Given the description of an element on the screen output the (x, y) to click on. 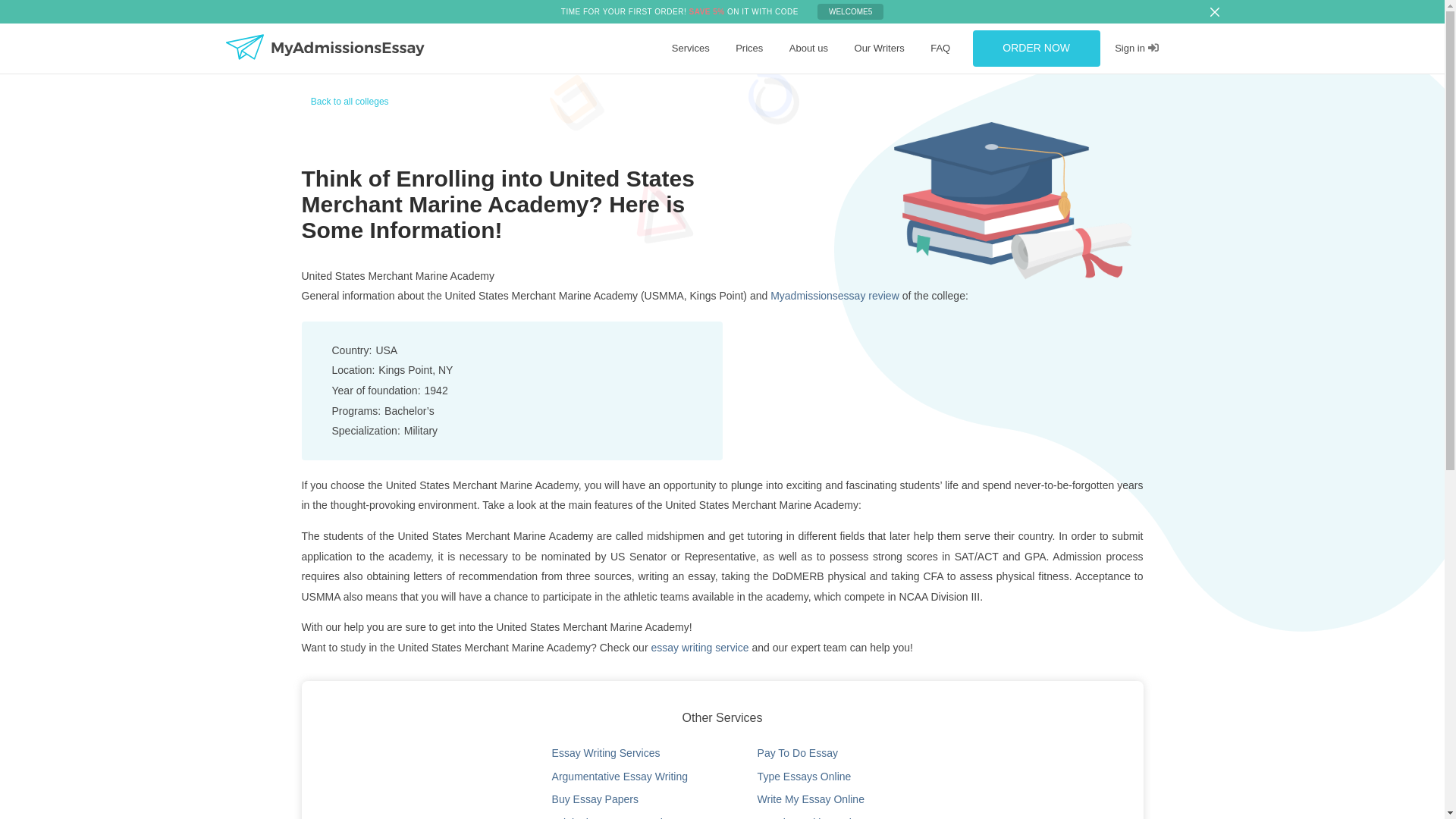
Biography Writing Services (897, 84)
Sign in (1136, 48)
Cover Letter Writing Service (719, 84)
Article Review (872, 84)
Prices (748, 48)
WELCOME5 (849, 11)
Exam Help (865, 84)
FAQ (940, 48)
Essay Writing Service (706, 84)
Myadmissionsessay review (834, 295)
Paper Help (684, 84)
Buy Business Plan (880, 84)
Write Papers For Money (711, 84)
Creative Writing Services (713, 84)
Literature Review Help (888, 84)
